Given the description of an element on the screen output the (x, y) to click on. 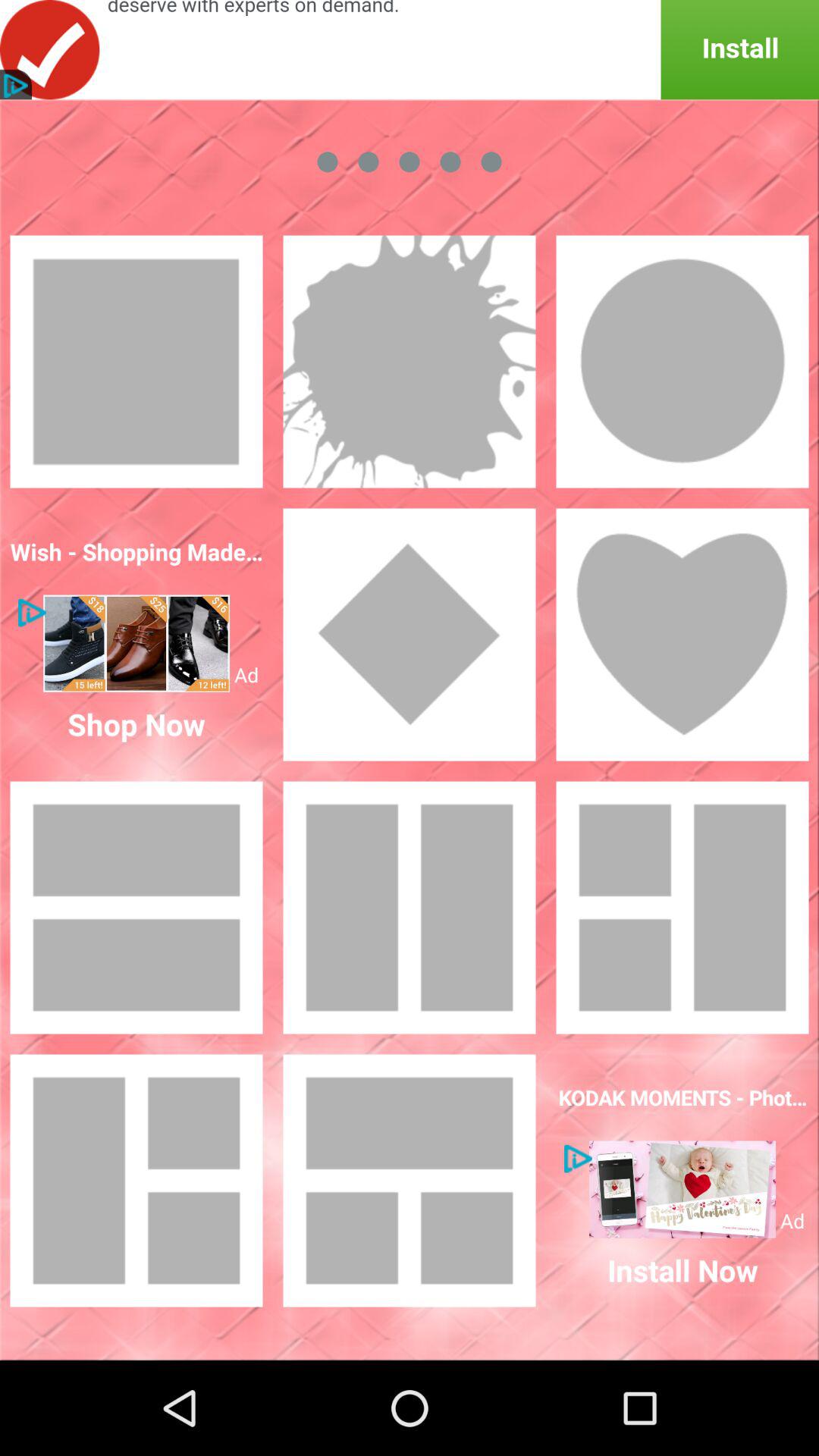
for image (136, 643)
